Given the description of an element on the screen output the (x, y) to click on. 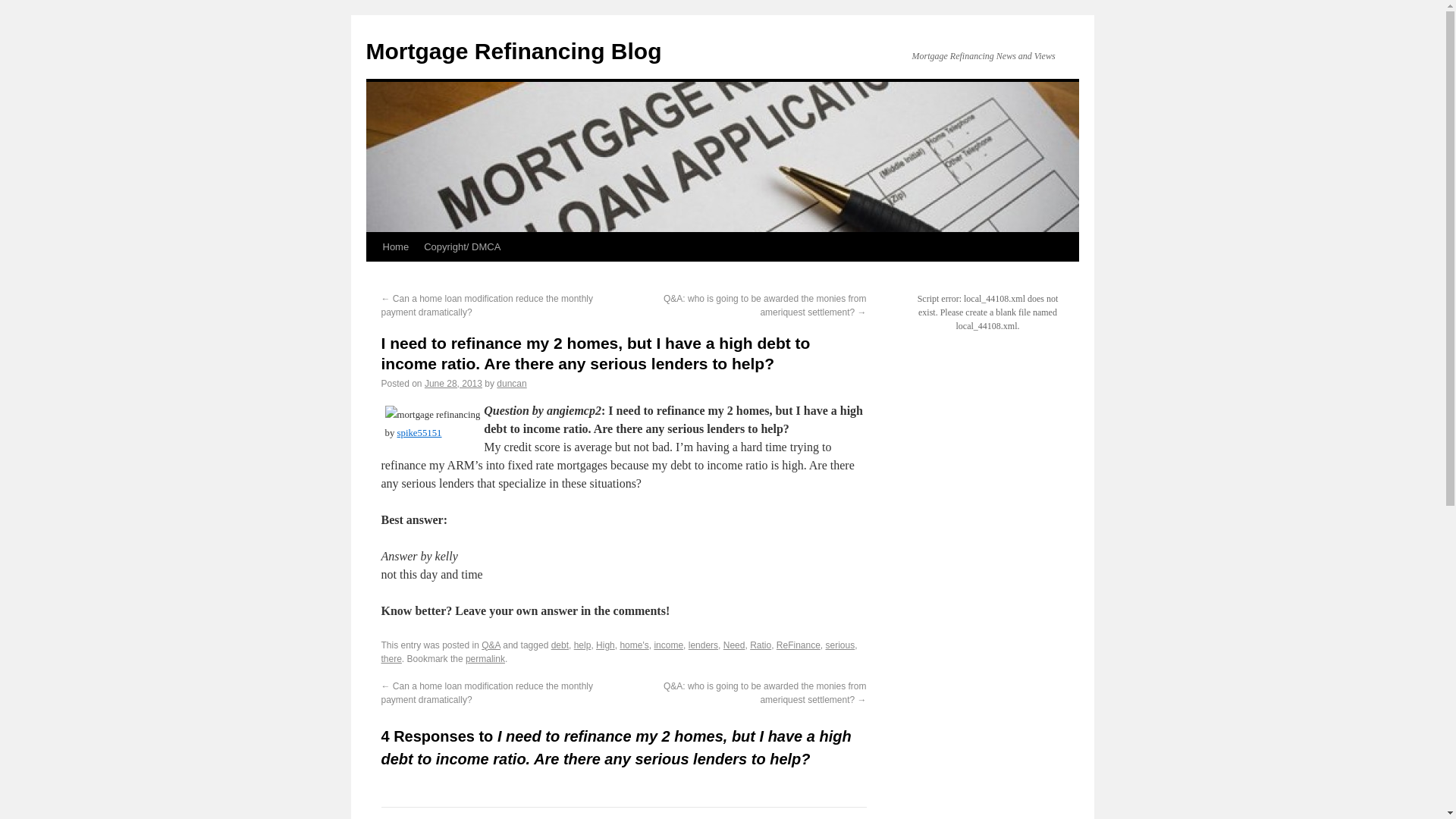
High (604, 644)
serious (840, 644)
Ratio (760, 644)
income (667, 644)
June 28, 2013 (453, 383)
home's (633, 644)
5:12 pm (453, 383)
ReFinance (798, 644)
Mortgage Refinancing Blog (513, 50)
there (390, 658)
debt (560, 644)
Home (395, 246)
spike55151 (419, 432)
permalink (485, 658)
